Given the description of an element on the screen output the (x, y) to click on. 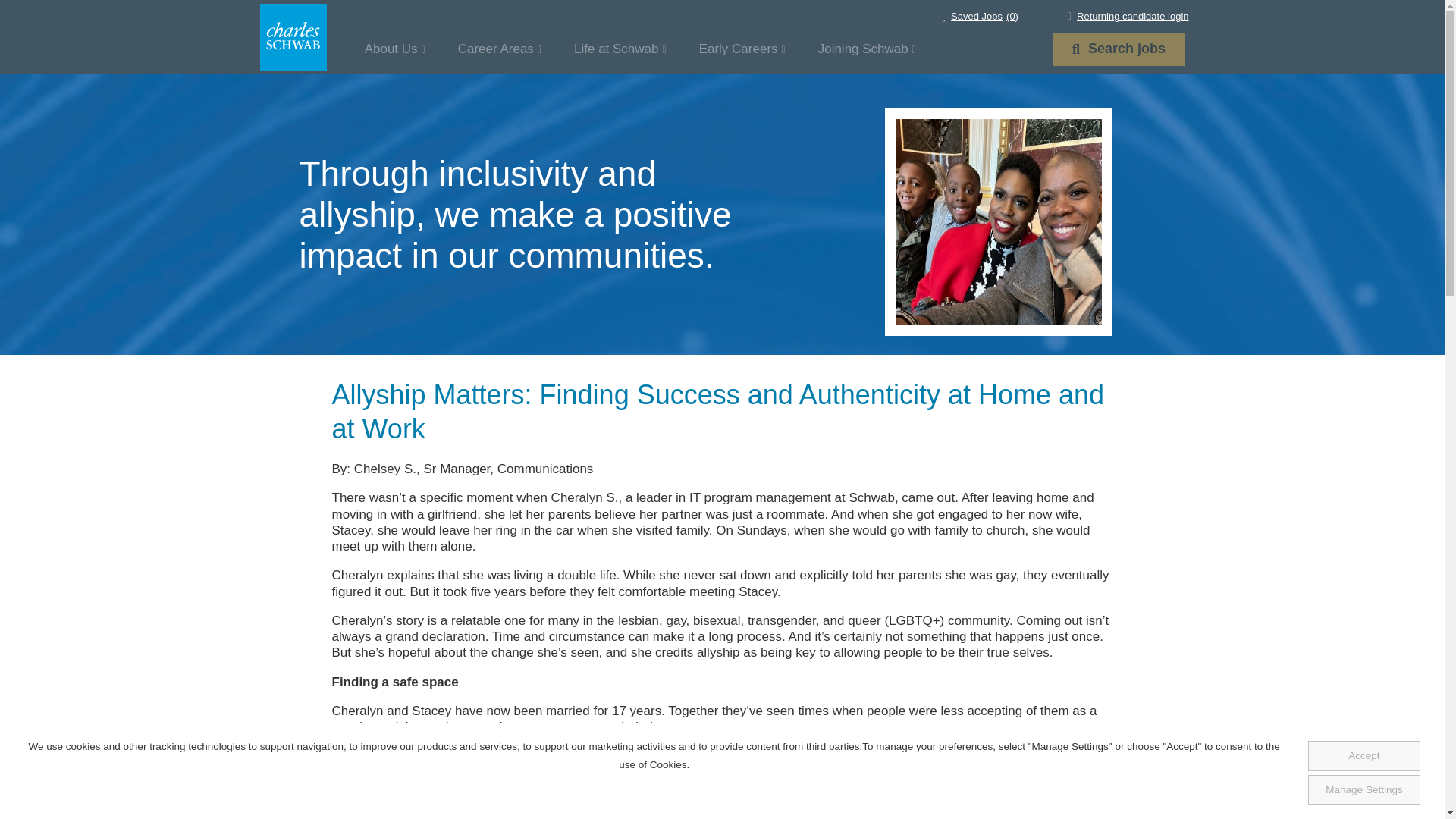
Joining Schwab (866, 48)
Life at Schwab (619, 48)
About Us (395, 48)
Early Careers (1118, 49)
Returning candidate login (742, 48)
Career Areas (1128, 16)
